Given the description of an element on the screen output the (x, y) to click on. 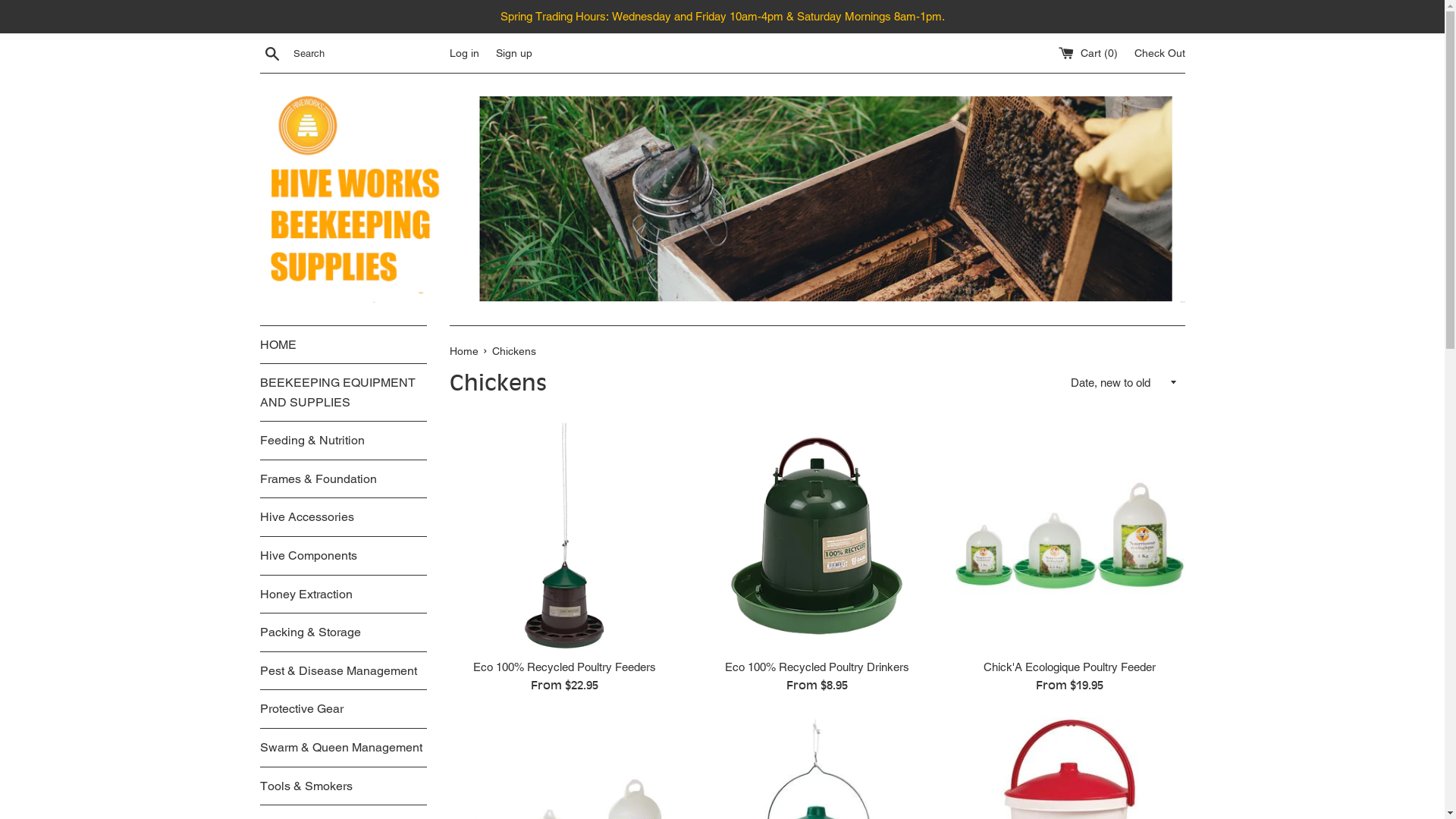
Frames & Foundation Element type: text (342, 479)
Chick'A Ecologique Poultry Feeder Element type: hover (1069, 534)
Packing & Storage Element type: text (342, 632)
Hive Accessories Element type: text (342, 517)
Log in Element type: text (463, 53)
Eco 100% Recycled Poultry Feeders Element type: text (564, 666)
Honey Extraction Element type: text (342, 594)
Home Element type: text (464, 350)
Eco 100% Recycled Poultry Drinkers Element type: hover (816, 534)
Protective Gear Element type: text (342, 709)
BEEKEEPING EQUIPMENT AND SUPPLIES Element type: text (342, 392)
Check Out Element type: text (1159, 53)
Cart (0) Element type: text (1089, 53)
Feeding & Nutrition Element type: text (342, 440)
Eco 100% Recycled Poultry Feeders Element type: hover (563, 534)
Sign up Element type: text (513, 53)
HOME Element type: text (342, 345)
Pest & Disease Management Element type: text (342, 671)
Tools & Smokers Element type: text (342, 786)
Search Element type: text (271, 52)
Swarm & Queen Management Element type: text (342, 747)
Hive Components Element type: text (342, 555)
Eco 100% Recycled Poultry Drinkers Element type: text (816, 666)
Chick'A Ecologique Poultry Feeder Element type: text (1069, 666)
